Given the description of an element on the screen output the (x, y) to click on. 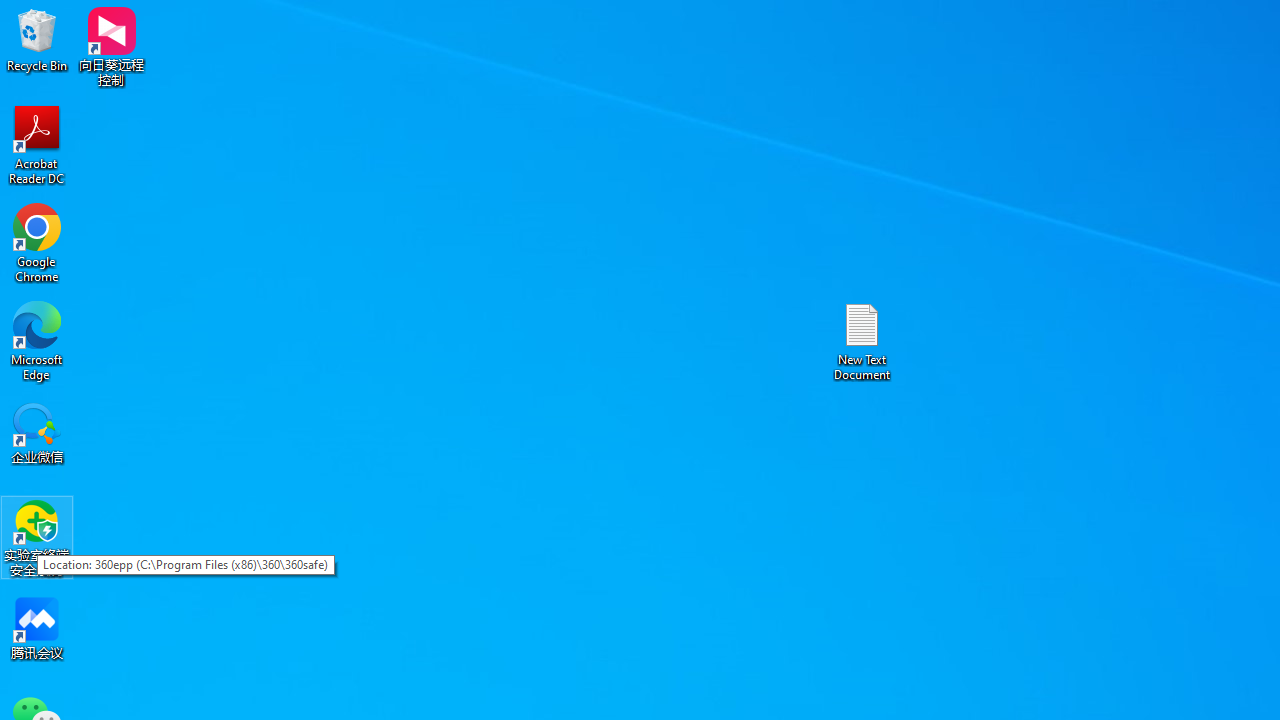
Recycle Bin (37, 39)
Google Chrome (37, 242)
Acrobat Reader DC (37, 144)
Microsoft Edge (37, 340)
New Text Document (861, 340)
